Given the description of an element on the screen output the (x, y) to click on. 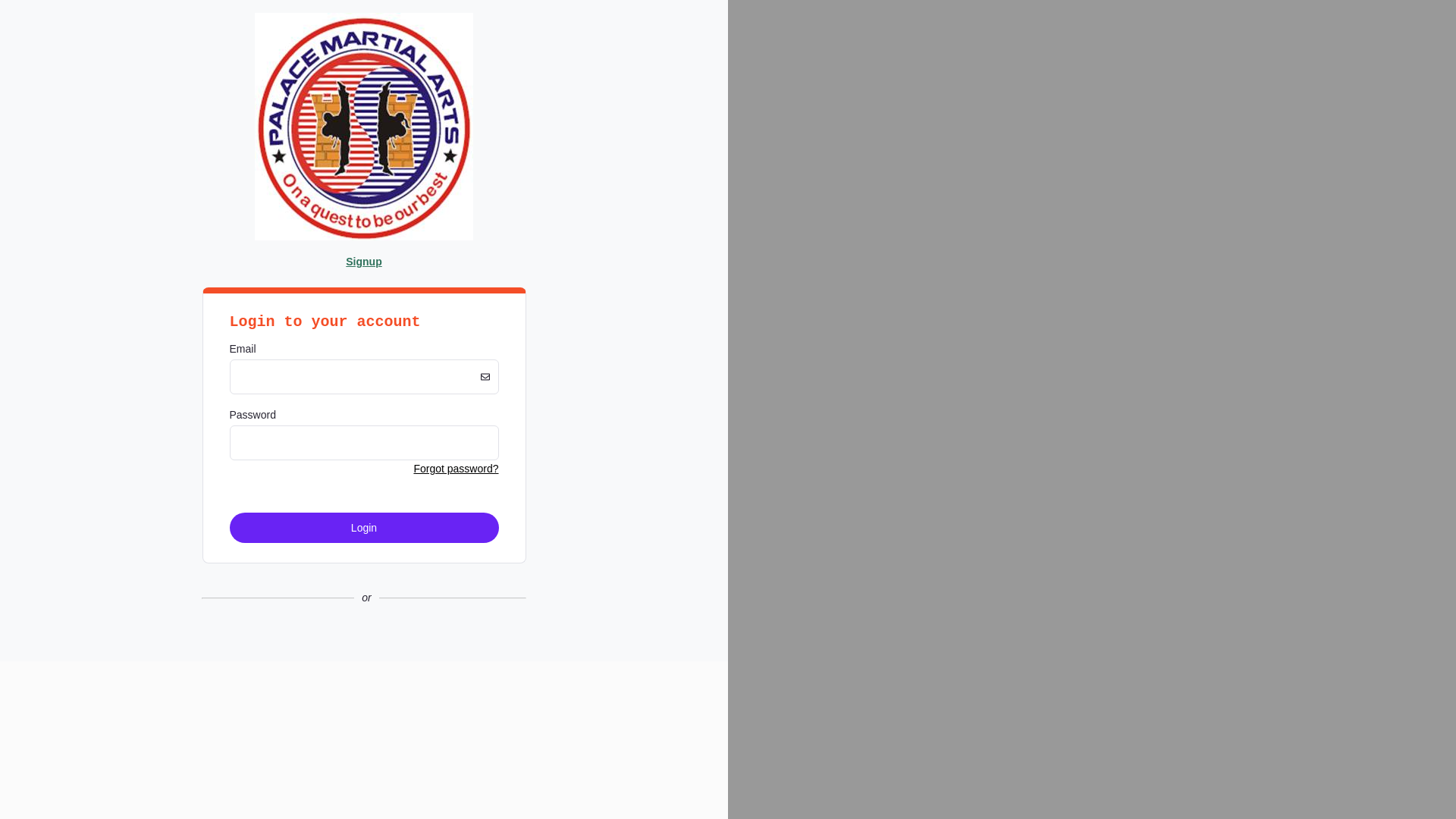
Login Element type: text (363, 527)
